Given the description of an element on the screen output the (x, y) to click on. 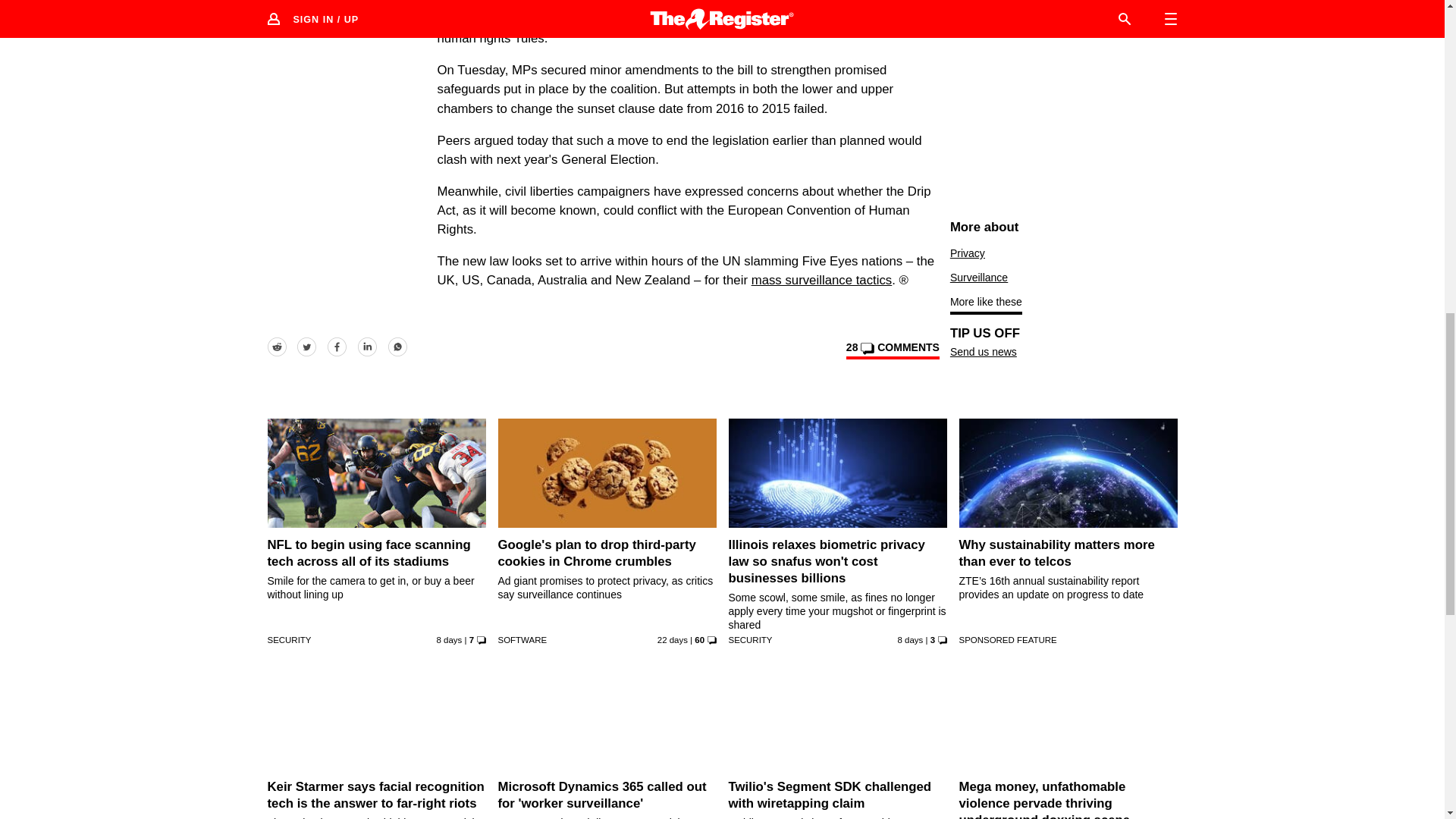
23 Jul 2024 0:3 (672, 639)
6 Aug 2024 1:43 (449, 639)
6 Aug 2024 2:45 (910, 639)
View comments on this article (892, 350)
